Given the description of an element on the screen output the (x, y) to click on. 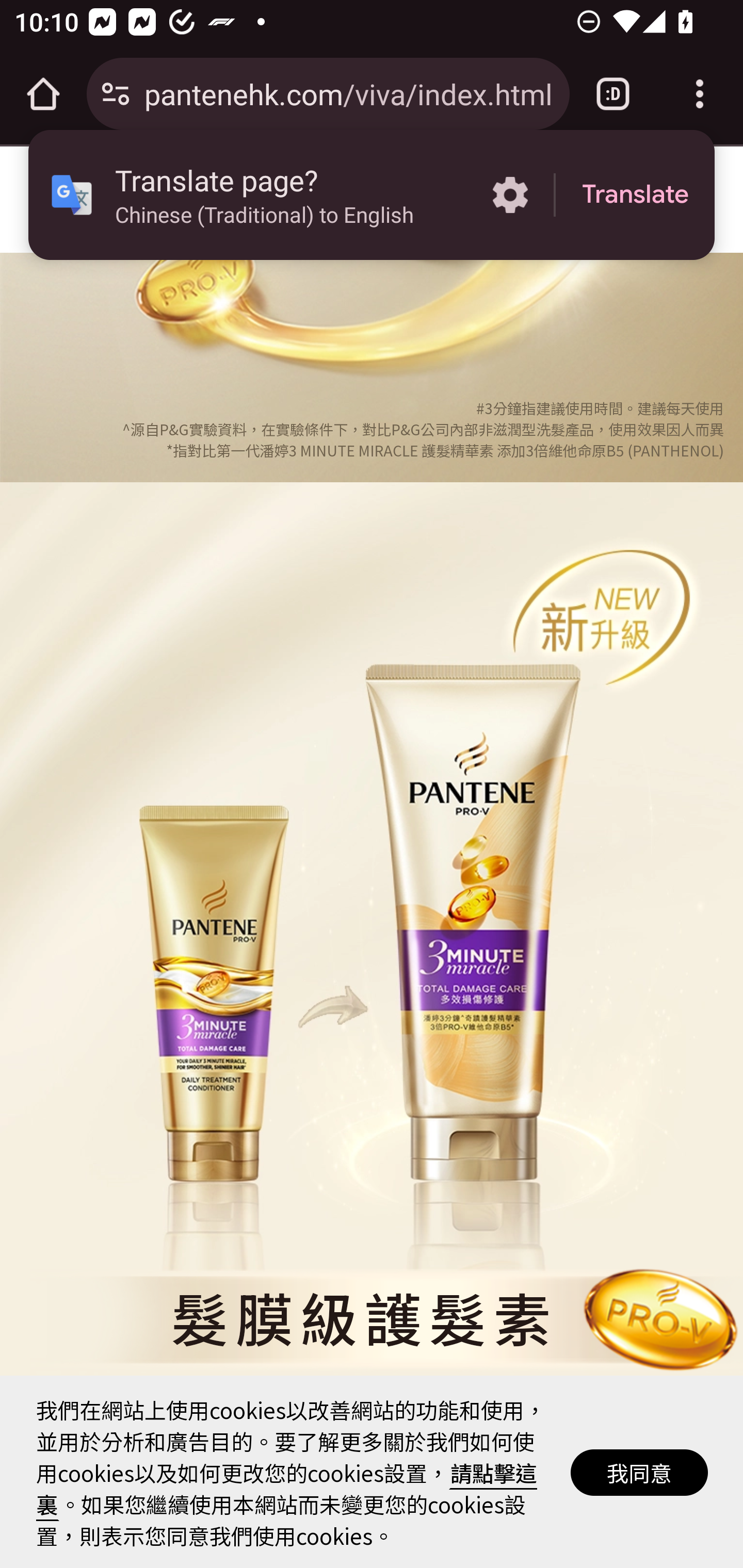
Open the home page (43, 93)
Connection is secure (115, 93)
Switch or close tabs (612, 93)
Customize and control Google Chrome (699, 93)
pantenehk.com/viva/index.html (349, 92)
Translate (634, 195)
More options in the Translate page? (509, 195)
我同意 (639, 1473)
請點擊這裏 (286, 1489)
